Given the description of an element on the screen output the (x, y) to click on. 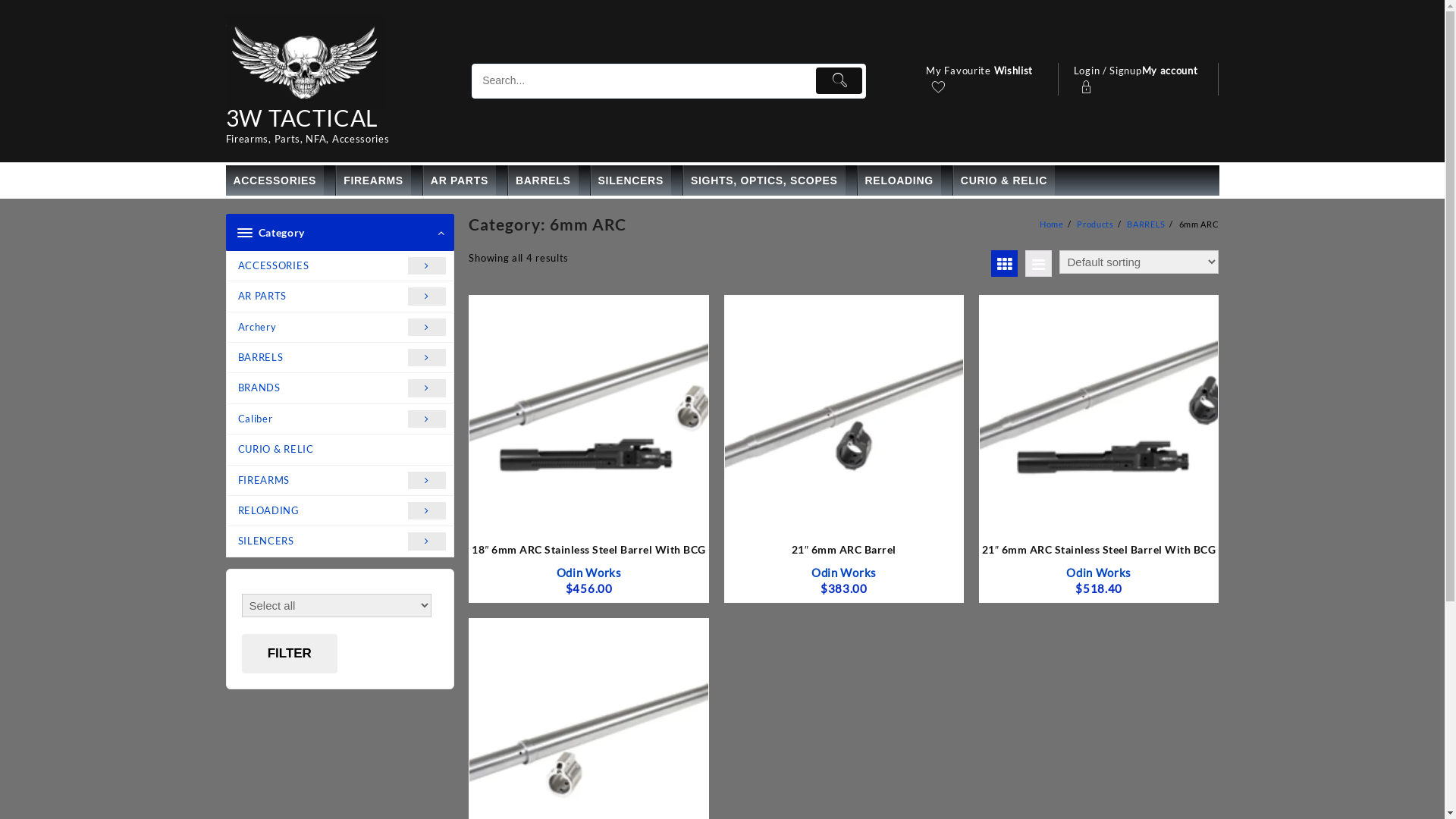
Products Element type: text (1094, 224)
Caliber Element type: text (338, 419)
CURIO & RELIC Element type: text (1003, 180)
SILENCERS Element type: text (338, 540)
BARRELS Element type: text (1145, 224)
Grid View Element type: hover (1004, 263)
BARRELS Element type: text (543, 180)
FIREARMS Element type: text (373, 180)
List View Element type: hover (1038, 263)
ACCESSORIES Element type: text (274, 180)
Archery Element type: text (338, 327)
RELOADING Element type: text (338, 510)
ACCESSORIES Element type: text (338, 266)
3W TACTICAL Element type: text (301, 117)
SILENCERS Element type: text (630, 180)
AR PARTS Element type: text (338, 296)
Odin Works Element type: text (1098, 572)
BRANDS Element type: text (338, 388)
AR PARTS Element type: text (459, 180)
BARRELS Element type: text (338, 357)
Odin Works Element type: text (588, 572)
SIGHTS, OPTICS, SCOPES Element type: text (764, 180)
Search Element type: hover (642, 81)
CURIO & RELIC Element type: text (338, 449)
RELOADING Element type: text (899, 180)
Odin Works Element type: text (843, 572)
My Favourite Wishlist Element type: text (983, 80)
FILTER Element type: text (289, 653)
Login / SignupMy account Element type: text (1138, 80)
Submit Element type: text (838, 80)
Home Element type: text (1051, 224)
FIREARMS Element type: text (338, 480)
